Given the description of an element on the screen output the (x, y) to click on. 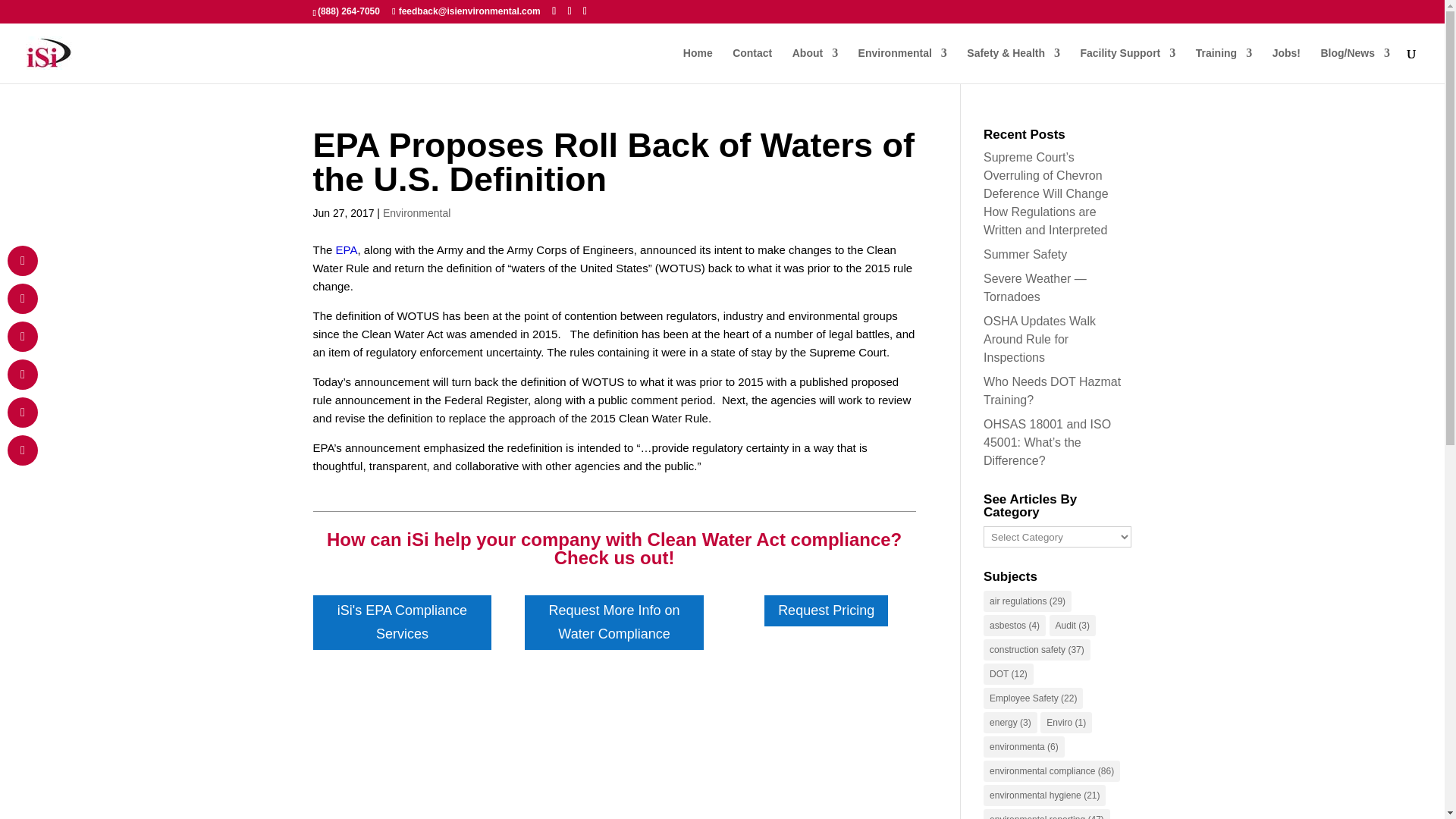
Home (697, 65)
Environmental (903, 65)
Contact (751, 65)
Training (1223, 65)
About (815, 65)
Facility Support (1127, 65)
